Given the description of an element on the screen output the (x, y) to click on. 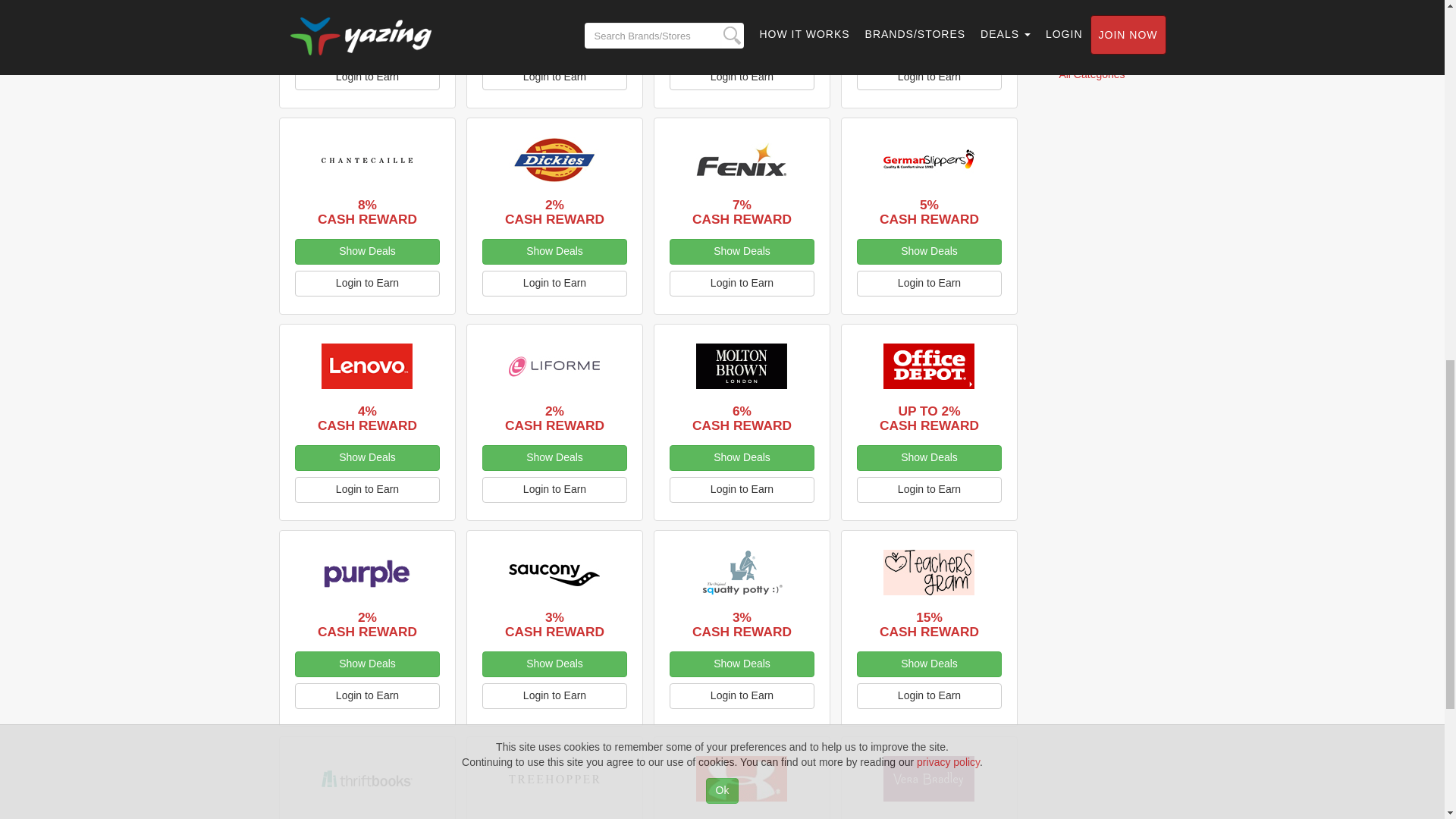
Liforme Coupon Codes and Deals (553, 366)
Chantecaille Coupon Codes and Deals (366, 159)
Lenovo Coupon Codes and Deals (366, 366)
Fenix Coupon Codes and Deals (741, 159)
German Slippers Coupon Codes and Deals (928, 159)
Dickies Coupon Codes and Deals (553, 159)
